Given the description of an element on the screen output the (x, y) to click on. 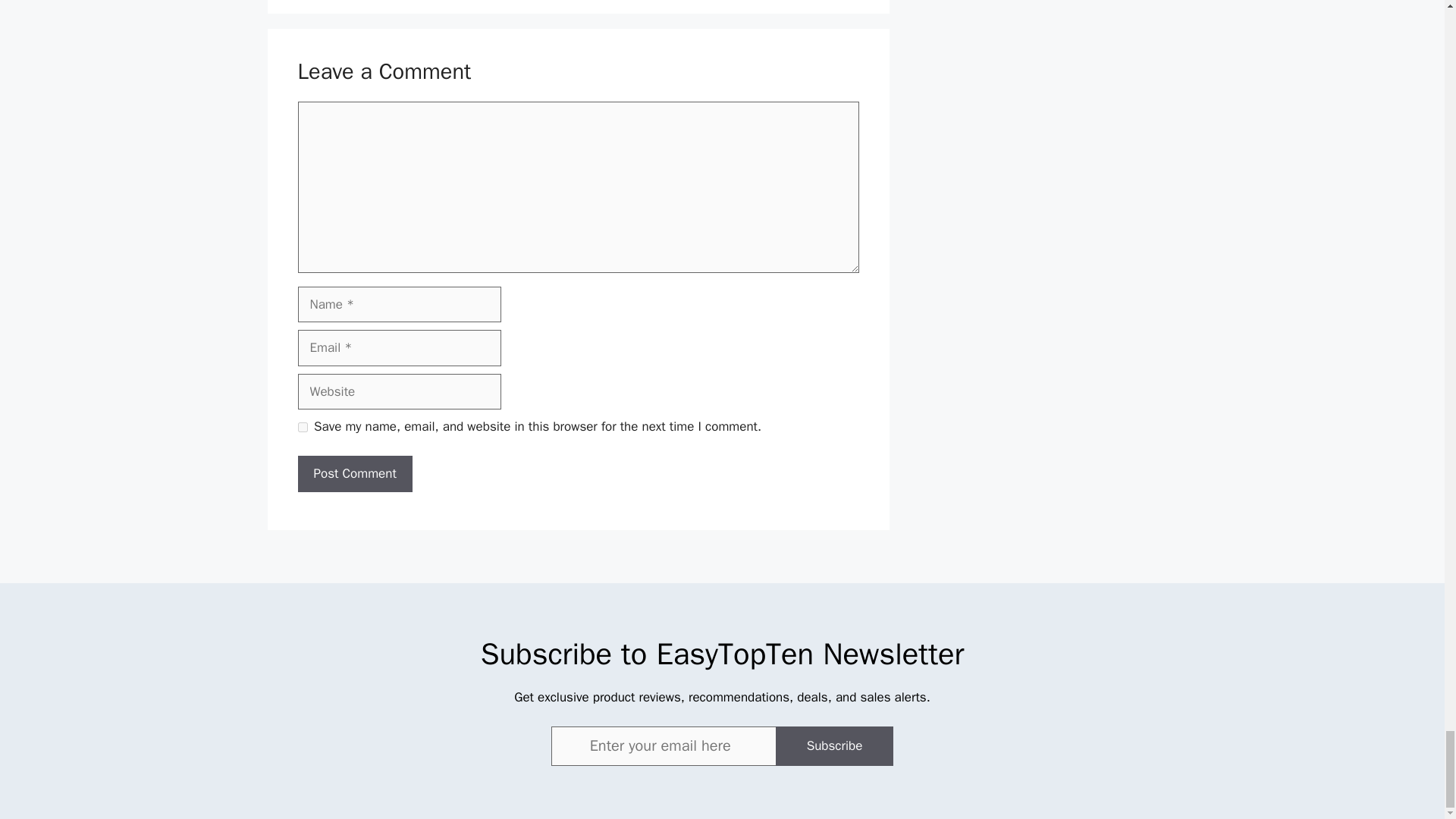
Subscribe (834, 745)
Post Comment (354, 473)
yes (302, 427)
Subscribe (834, 745)
Post Comment (354, 473)
